Given the description of an element on the screen output the (x, y) to click on. 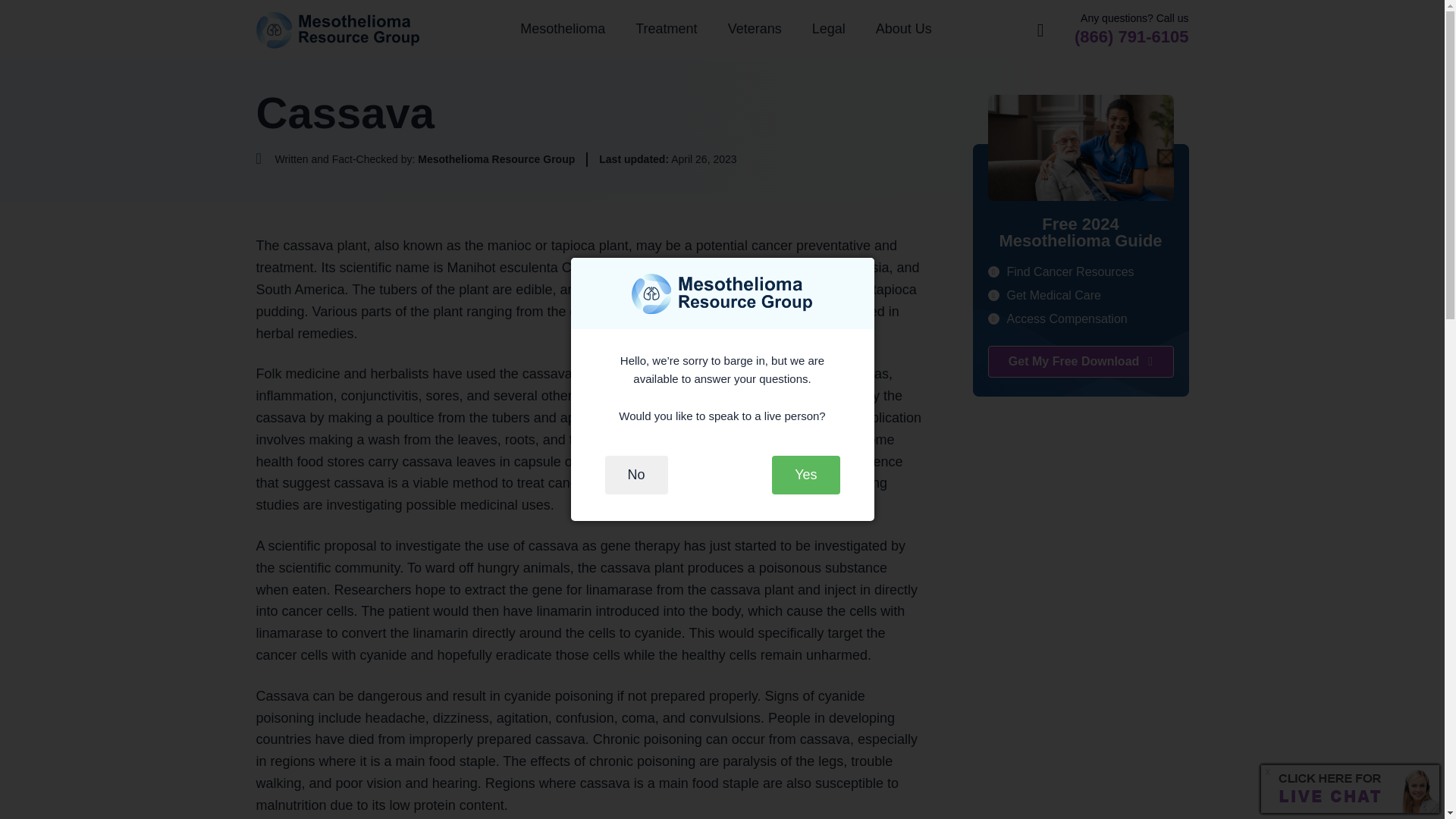
Veterans (754, 28)
Veterans (754, 28)
Mesothelioma (562, 28)
Mesothelioma Resource Group (339, 29)
Click to view Mesothelioma Resource Group (415, 159)
Mesothelioma (562, 28)
Treatment (665, 28)
About Us (903, 28)
Legal (828, 28)
Mesothelioma Resource Group (339, 29)
Treatment (665, 28)
